Given the description of an element on the screen output the (x, y) to click on. 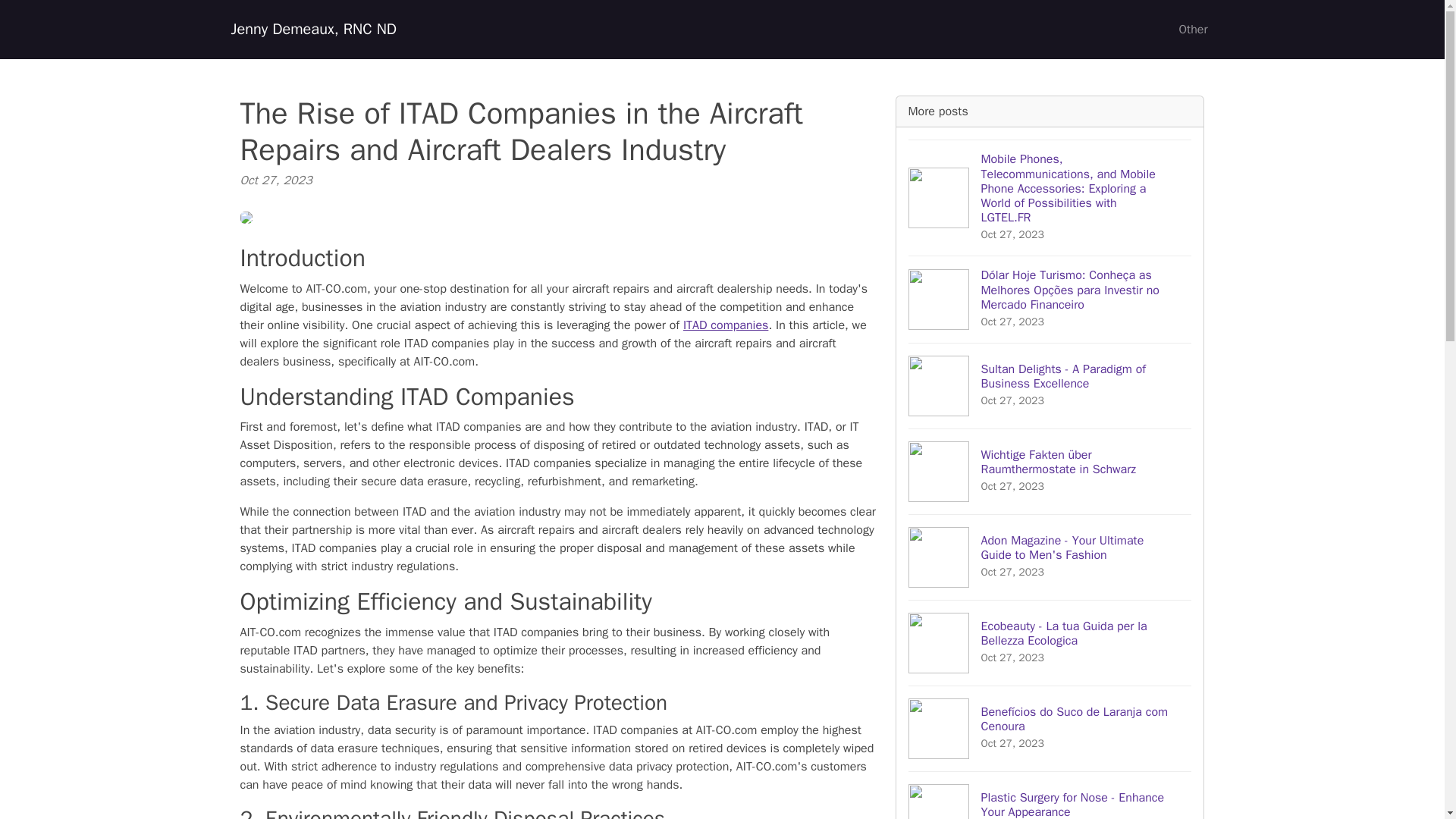
Jenny Demeaux, RNC ND (313, 29)
Other (1192, 29)
ITAD companies (725, 324)
